Given the description of an element on the screen output the (x, y) to click on. 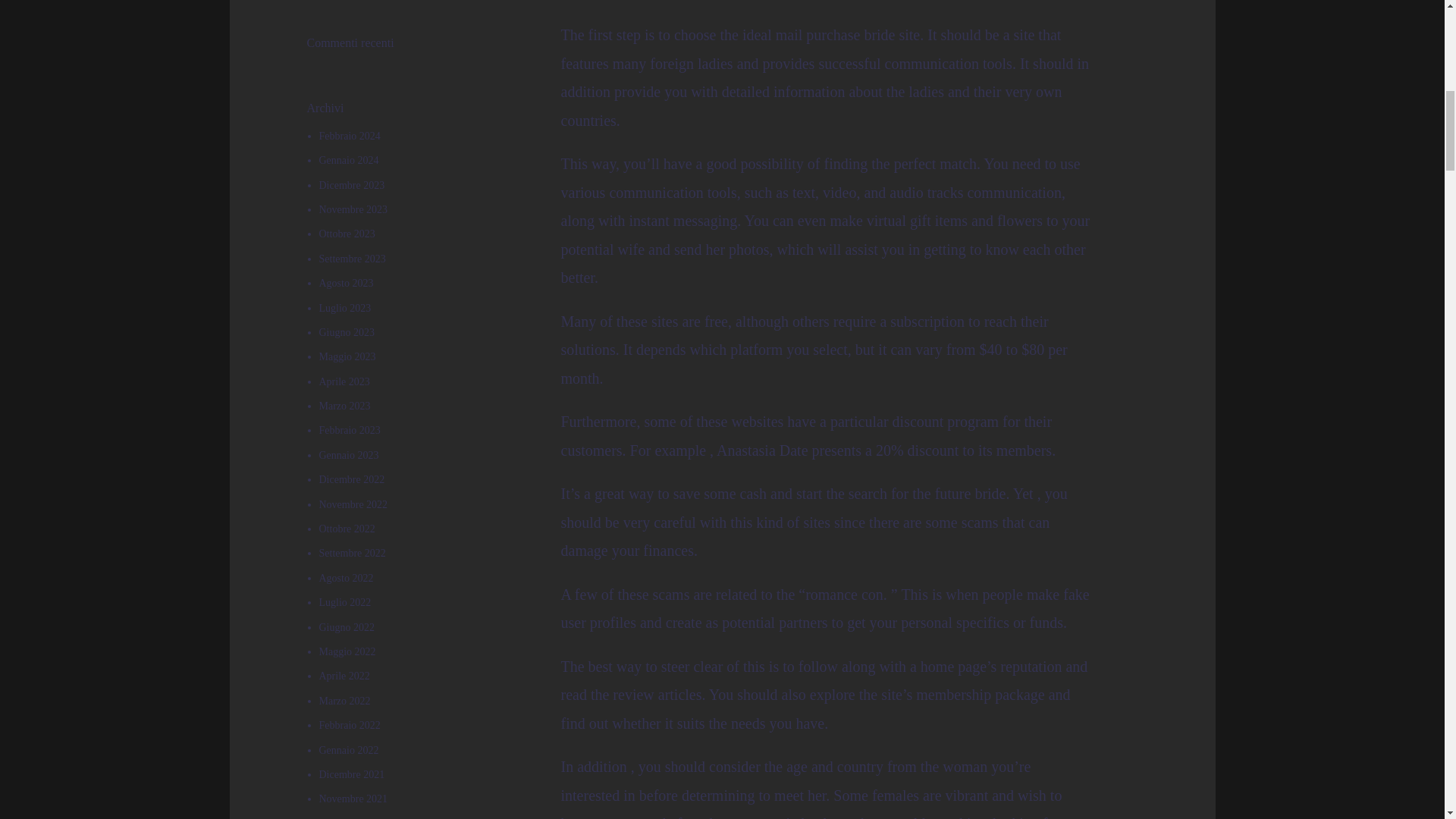
Gennaio 2024 (348, 160)
Gennaio 2023 (348, 455)
Settembre 2022 (351, 552)
Giugno 2022 (346, 627)
Ottobre 2023 (346, 233)
Novembre 2023 (352, 209)
Settembre 2023 (351, 258)
Maggio 2022 (346, 651)
Ottobre 2022 (346, 528)
Febbraio 2023 (349, 430)
Luglio 2023 (344, 307)
Marzo 2023 (343, 405)
Dicembre 2022 (351, 479)
Febbraio 2024 (349, 135)
Agosto 2022 (345, 577)
